Given the description of an element on the screen output the (x, y) to click on. 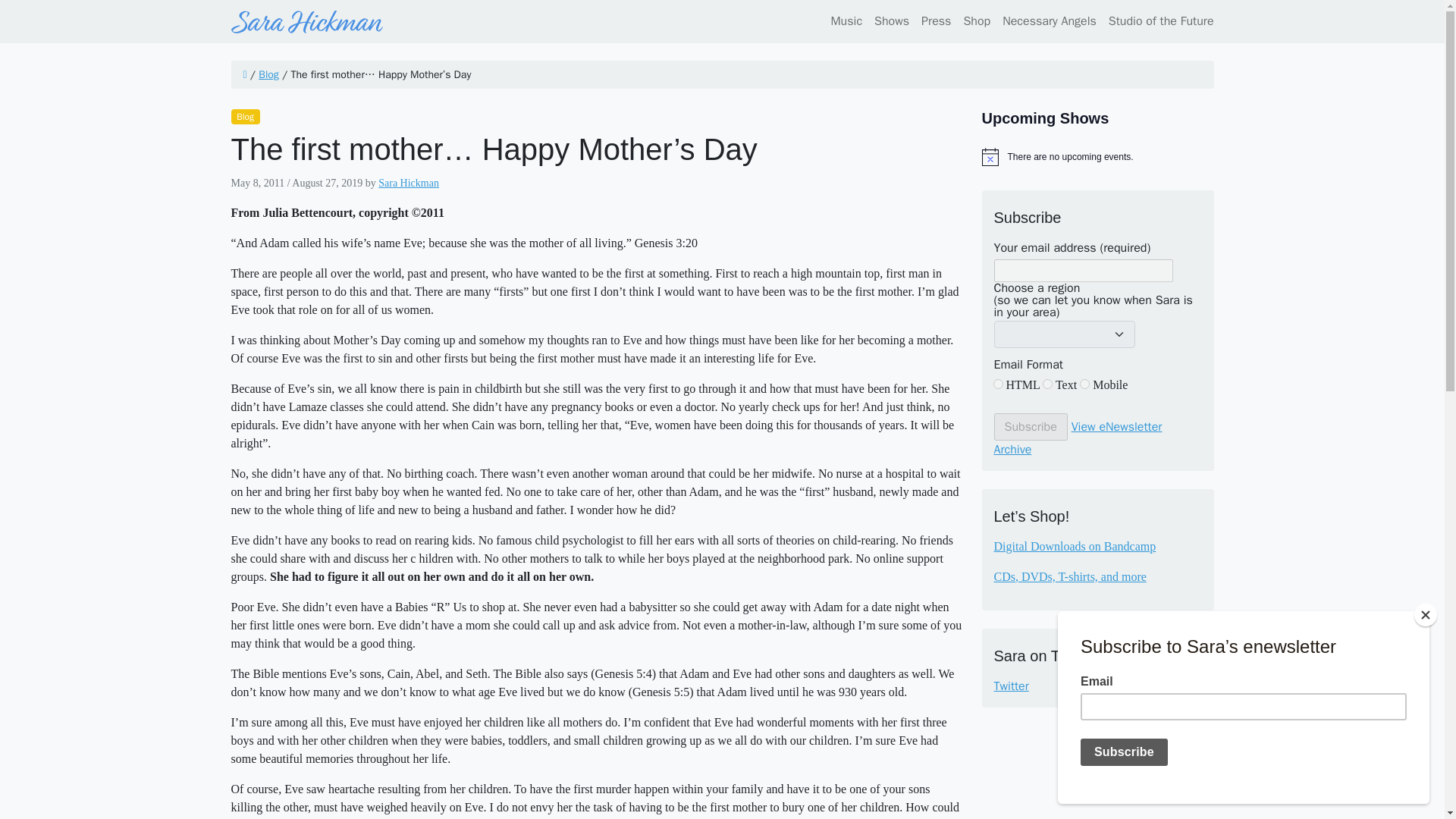
html (997, 384)
Necessary Angels (1048, 20)
CDs, DVDs, T-shirts, and more (1068, 576)
Shows (891, 20)
Shop (975, 20)
Press (935, 20)
Subscribe (1029, 426)
Studio of the Future (1158, 20)
Posts by Sara Hickman (408, 183)
Digital Downloads on Bandcamp (1074, 545)
mobile (1084, 384)
Blog (269, 74)
Twitter (1096, 686)
text (1047, 384)
View eNewsletter Archive (1076, 438)
